Given the description of an element on the screen output the (x, y) to click on. 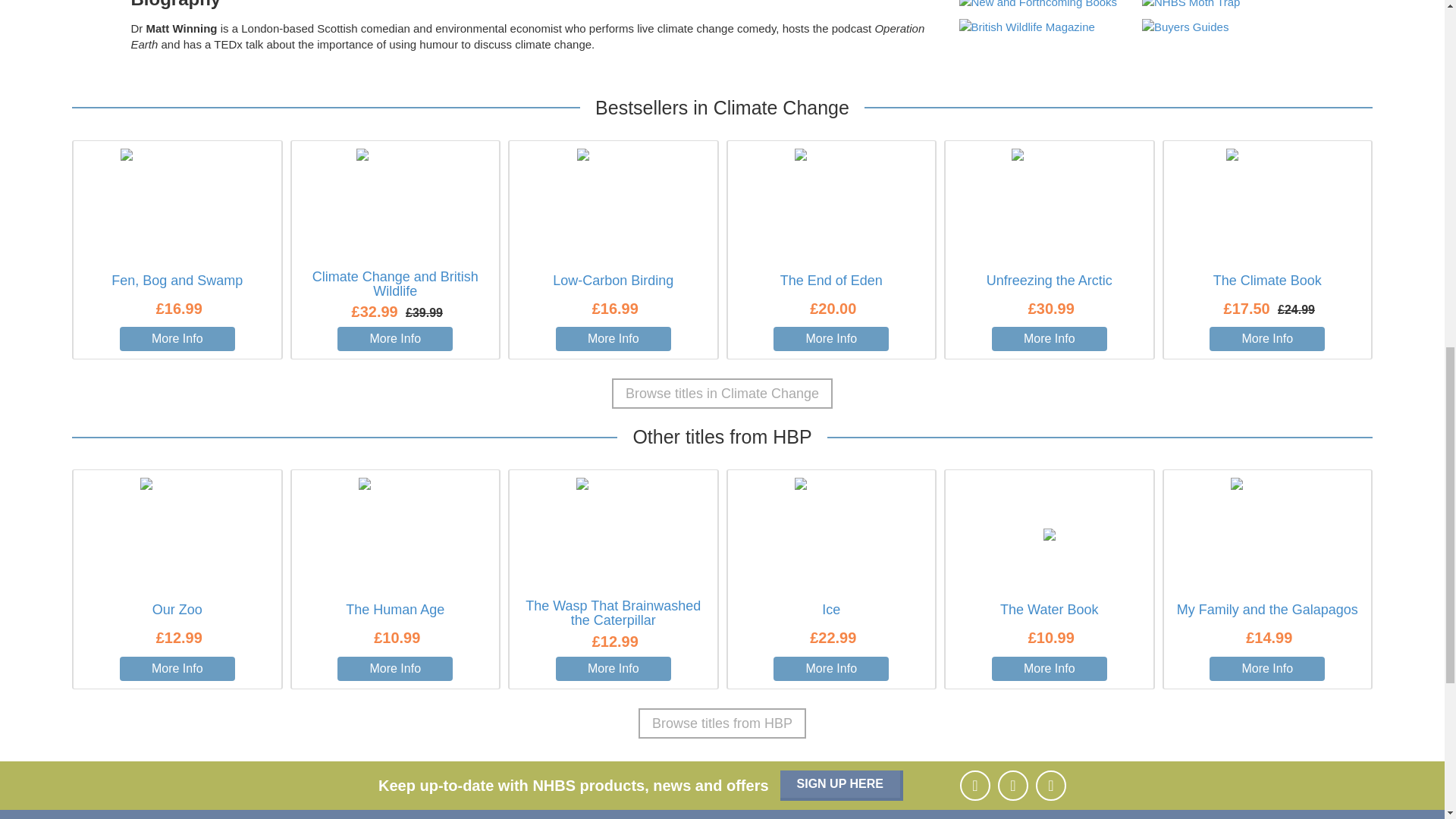
Sign up here (841, 785)
Follow us on Facebook (974, 785)
Follow us on Twitter (1050, 785)
Follow us on Instagram (1012, 785)
